Given the description of an element on the screen output the (x, y) to click on. 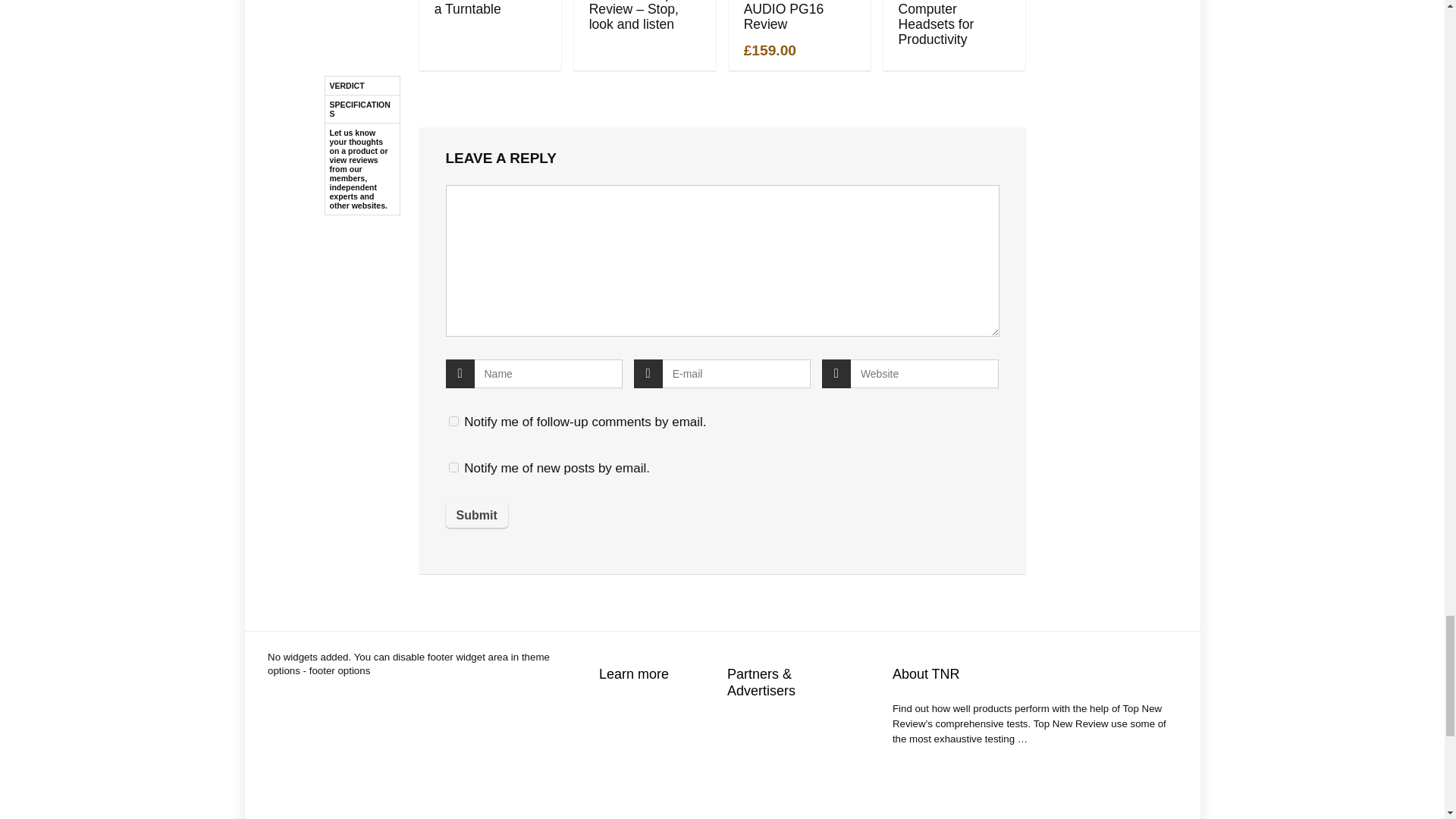
subscribe (453, 467)
AUSTRIAN AUDIO PG16 Review (784, 15)
The Best Computer Headsets for Productivity (936, 23)
3 Reasons to Get a Turntable (485, 8)
subscribe (453, 420)
Submit (476, 515)
Submit (476, 515)
